Given the description of an element on the screen output the (x, y) to click on. 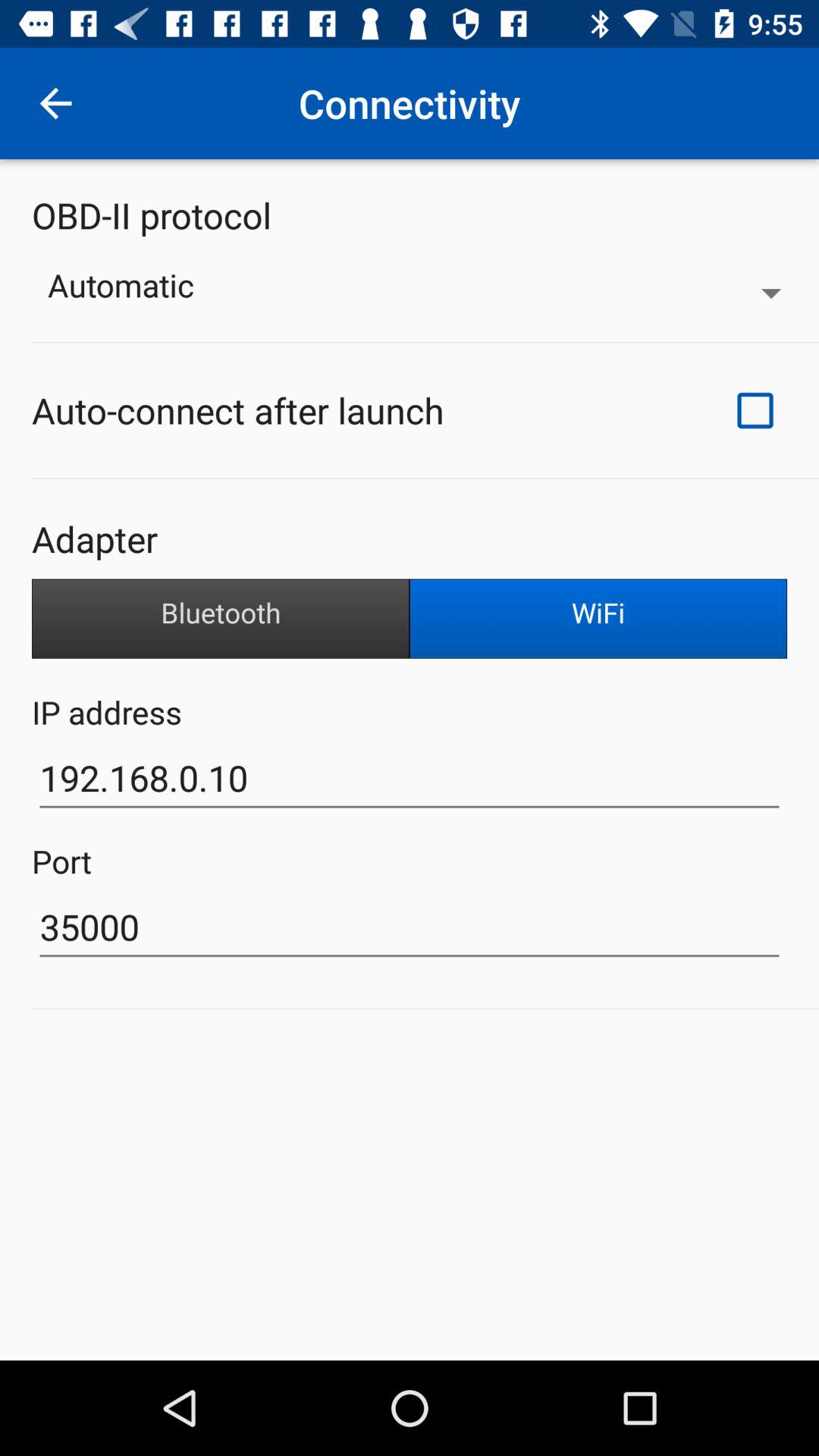
open the item below the adapter item (598, 618)
